Given the description of an element on the screen output the (x, y) to click on. 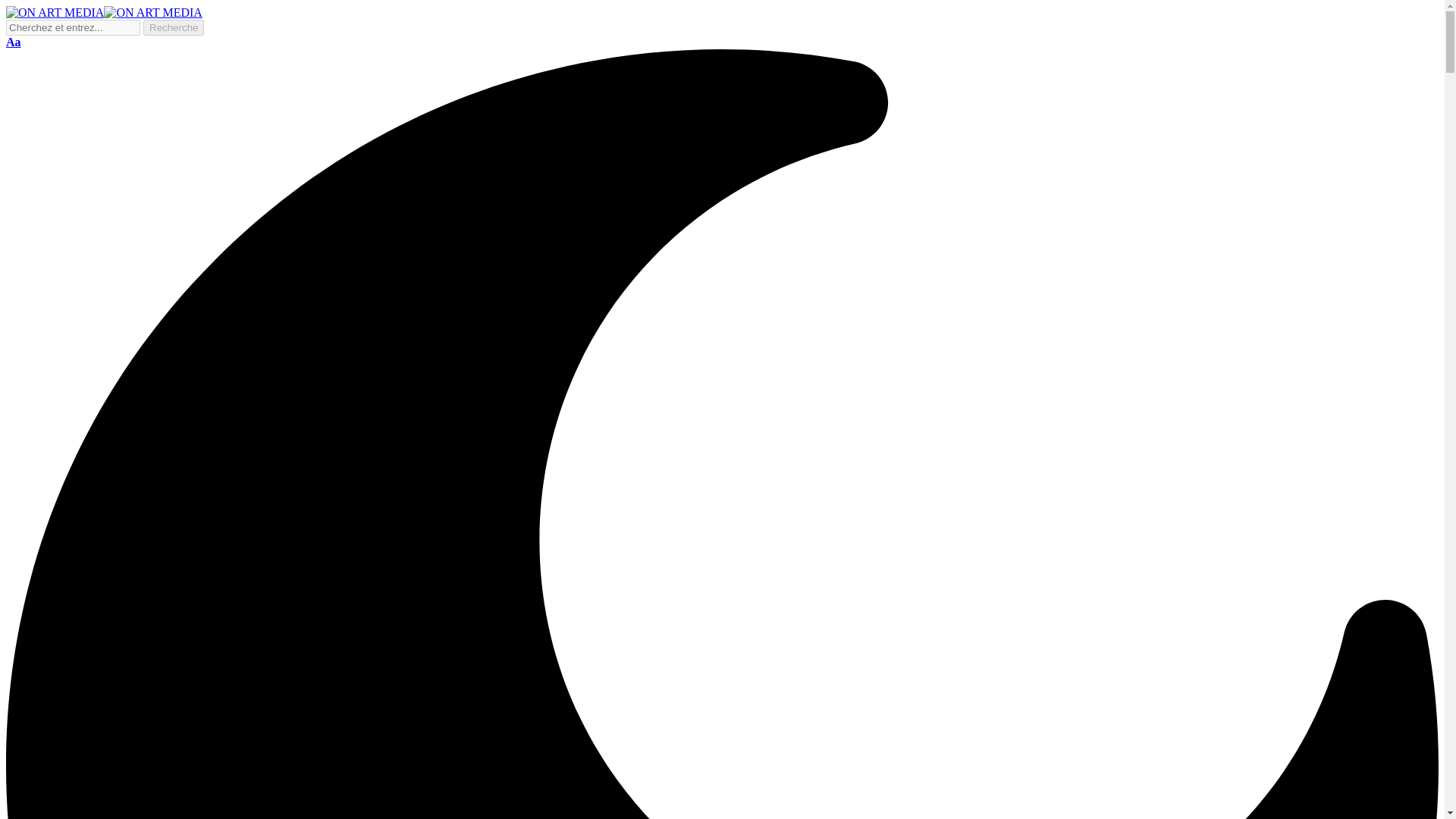
Recherche (172, 27)
ON ART MEDIA (103, 11)
Aa (13, 42)
Recherche (172, 27)
